Given the description of an element on the screen output the (x, y) to click on. 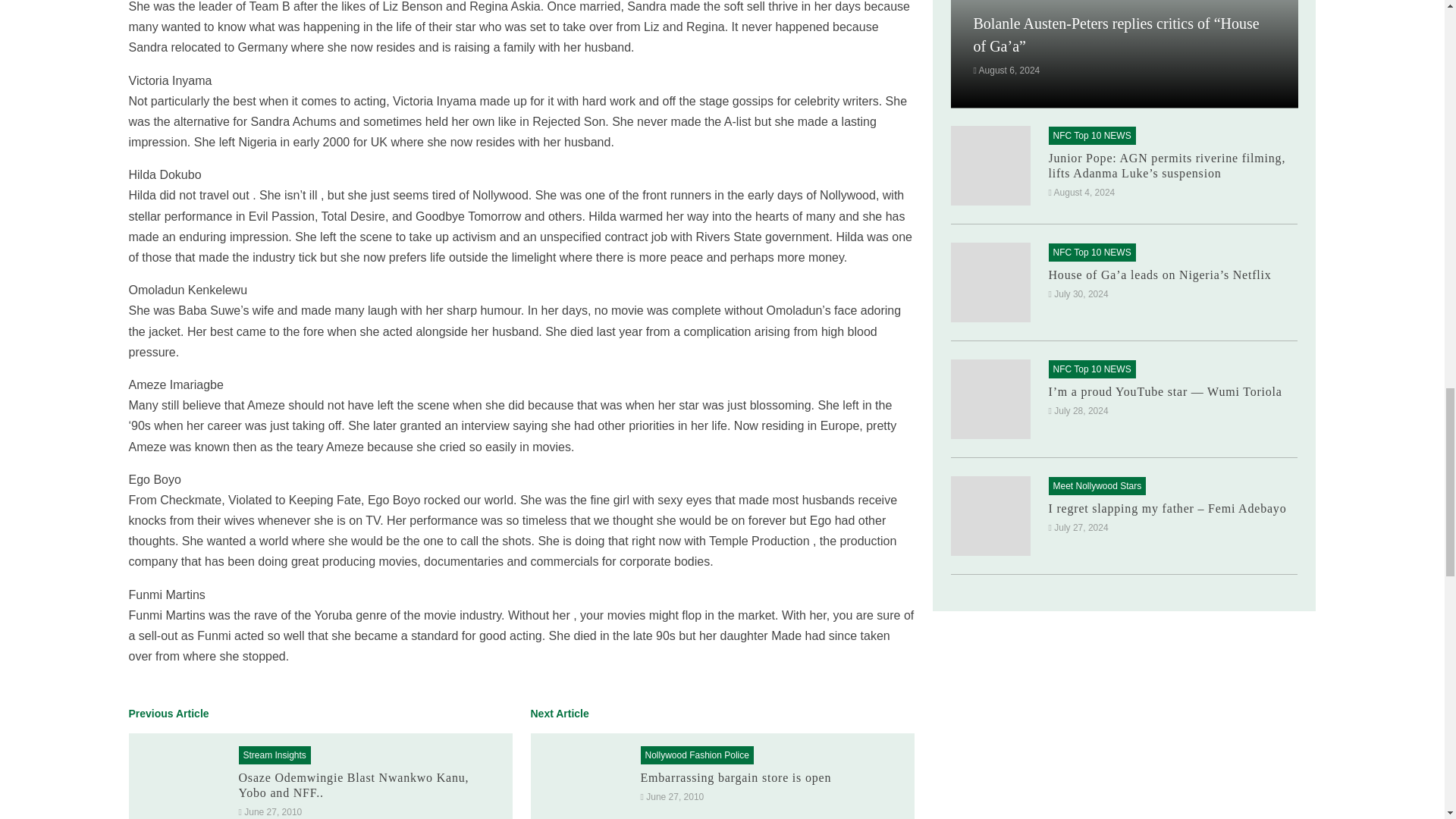
Osaze Odemwingie Blast Nwankwo Kanu, Yobo and NFF.. (353, 785)
Osaze Odemwingie Blast Nwankwo Kanu, Yobo and NFF.. (353, 785)
Osaze Odemwingie Blast Nwankwo Kanu, Yobo and NFF.. (181, 784)
Embarrassing bargain store is open (735, 777)
Embarrassing bargain store is open (735, 777)
Nollywood Fashion Police (696, 755)
Embarrassing bargain store is open (583, 784)
Stream Insights (274, 755)
Nollywood Fashion Police (696, 755)
Stream Insights (274, 755)
